Given the description of an element on the screen output the (x, y) to click on. 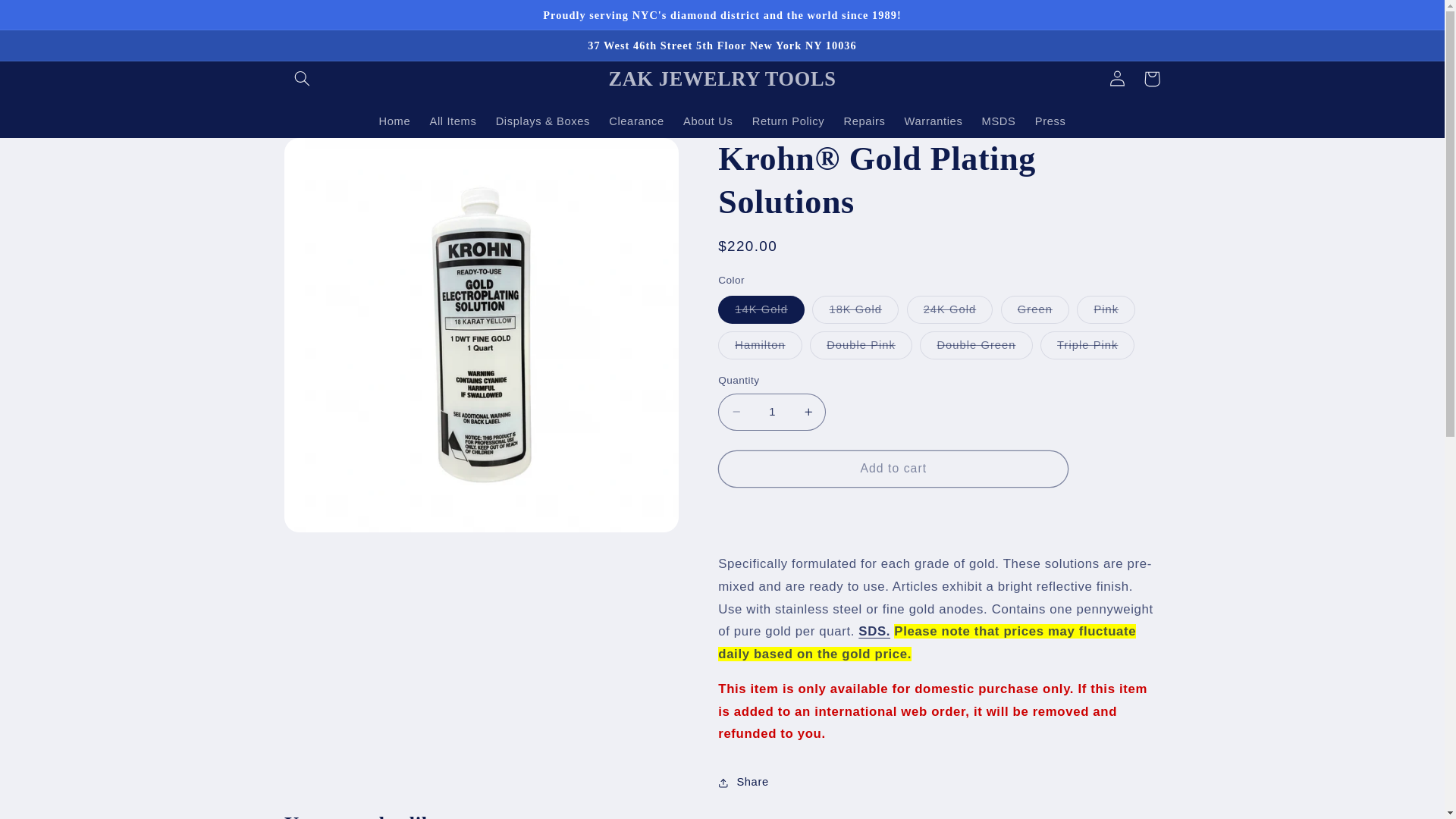
ZAK JEWELRY TOOLS (722, 79)
About Us (707, 121)
MSDS (998, 121)
Warranties (933, 121)
Repairs (864, 121)
Clearance (636, 121)
